Given the description of an element on the screen output the (x, y) to click on. 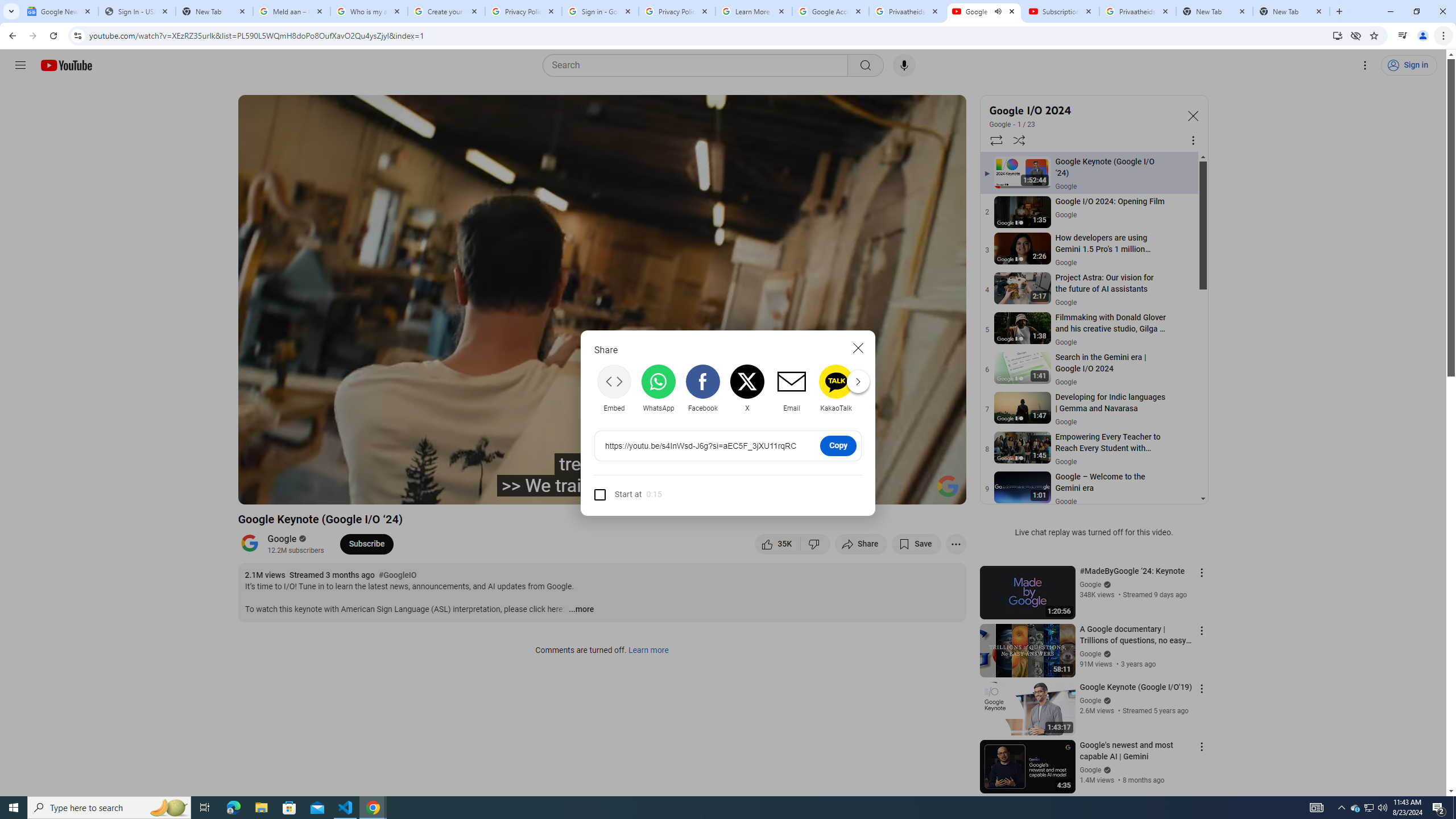
Seek slider (601, 476)
Google News (59, 11)
Collapse (1192, 115)
Shuffle playlist (1018, 140)
Embed (614, 388)
Share (861, 543)
Google I/O 2024 (1082, 109)
